Given the description of an element on the screen output the (x, y) to click on. 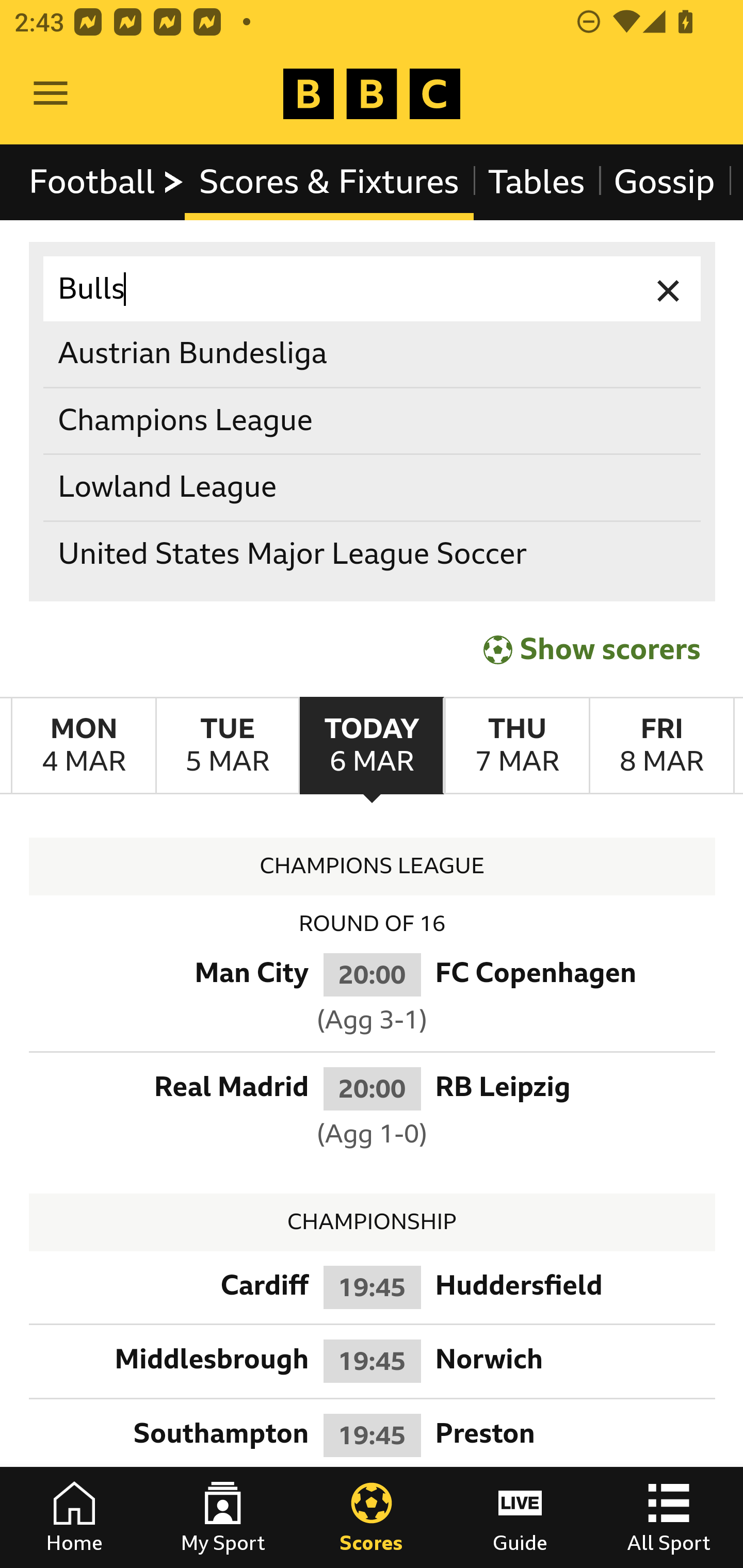
Open Menu (50, 93)
Football  (106, 181)
Scores & Fixtures (329, 181)
Tables (536, 181)
Gossip (664, 181)
Bulls (372, 289)
Clear input (669, 289)
Champions League (372, 419)
Lowland League (372, 488)
United States Major League Soccer (372, 554)
Show scorers (591, 647)
MondayMarch 4th Monday March 4th (83, 745)
TuesdayMarch 5th Tuesday March 5th (227, 745)
ThursdayMarch 7th Thursday March 7th (516, 745)
FridayMarch 8th Friday March 8th (661, 745)
Home (74, 1517)
My Sport (222, 1517)
Guide (519, 1517)
All Sport (668, 1517)
